Given the description of an element on the screen output the (x, y) to click on. 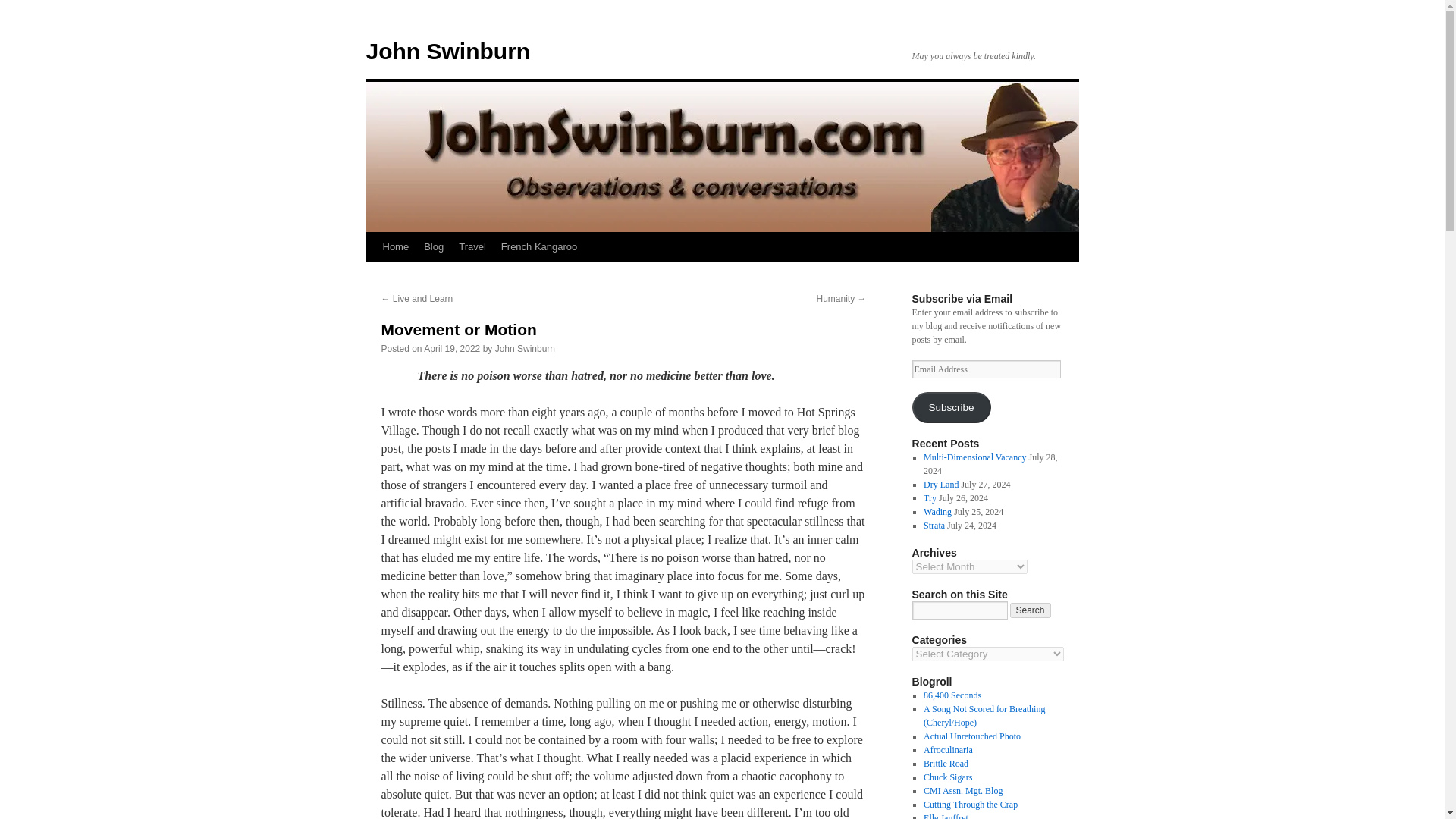
John Swinburn (447, 50)
Chuck Sigars (947, 777)
Multi-Dimensional Vacancy (974, 457)
Home (395, 246)
Brittle Road (945, 763)
6:10 am (451, 348)
Actual Unretouched Photo (971, 736)
Search (1030, 610)
Travel (472, 246)
Cutting Through the Crap (970, 804)
John Swinburn (524, 348)
French Kangaroo (539, 246)
Skip to content (372, 274)
April 19, 2022 (451, 348)
Afroculinaria (947, 749)
